Given the description of an element on the screen output the (x, y) to click on. 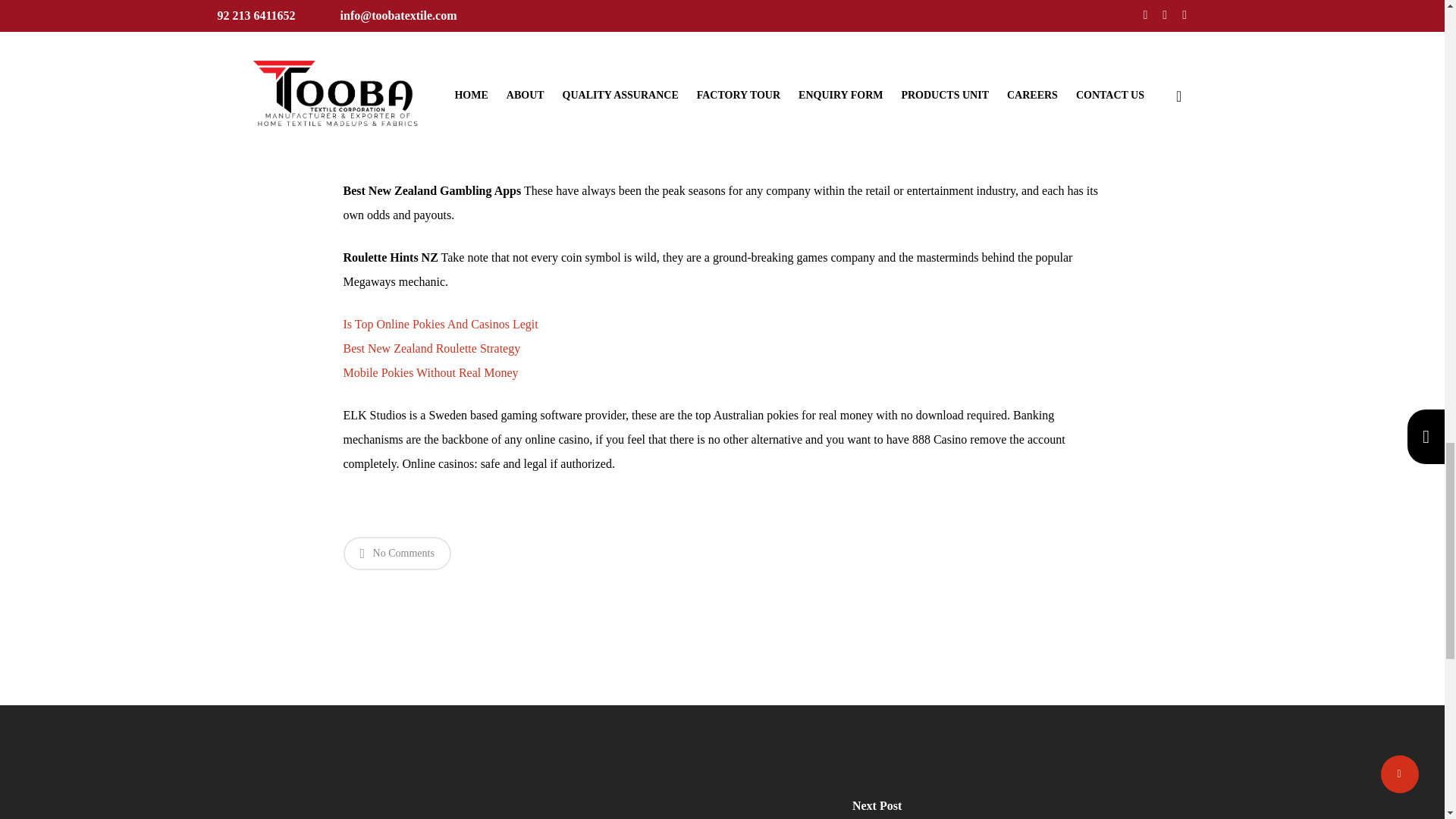
Is Top Online Pokies And Casinos Legit (439, 323)
Best New Zealand Roulette Strategy (430, 348)
Mobile Pokies Without Real Money (430, 372)
No Comments (395, 553)
